Given the description of an element on the screen output the (x, y) to click on. 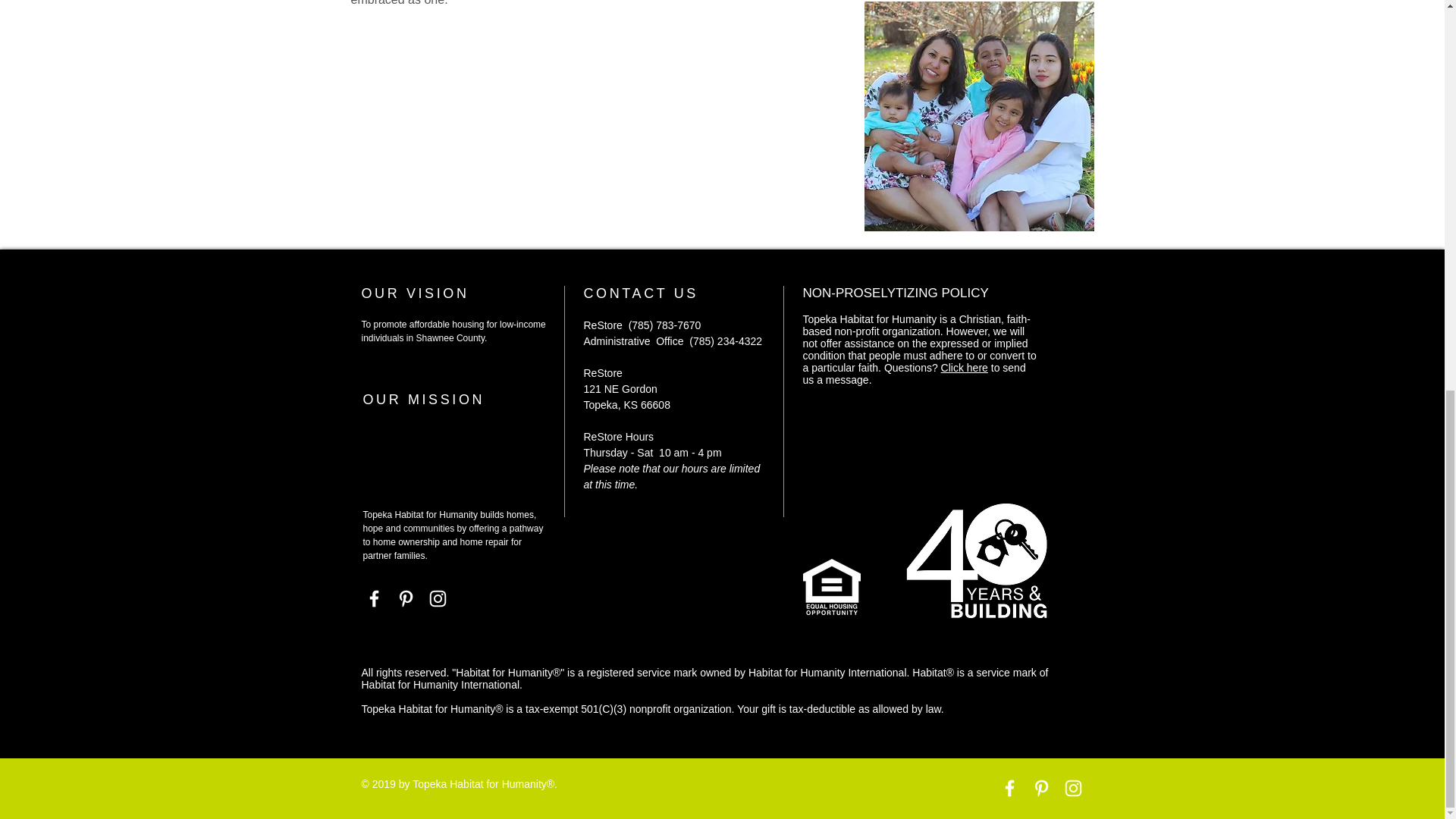
Black background small.png (979, 554)
Click here (964, 367)
